Given the description of an element on the screen output the (x, y) to click on. 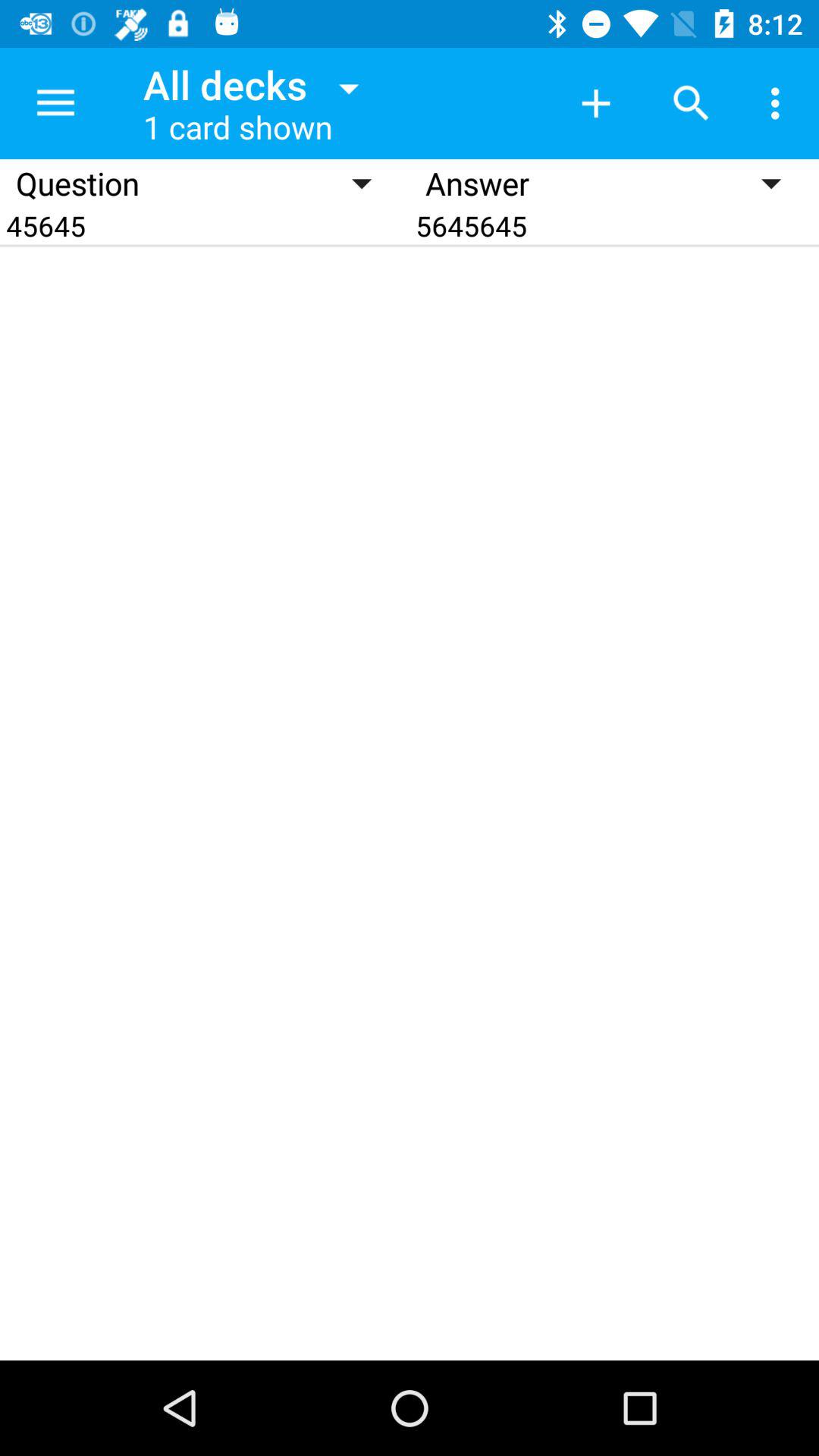
turn on the item next to the all decks icon (55, 103)
